Given the description of an element on the screen output the (x, y) to click on. 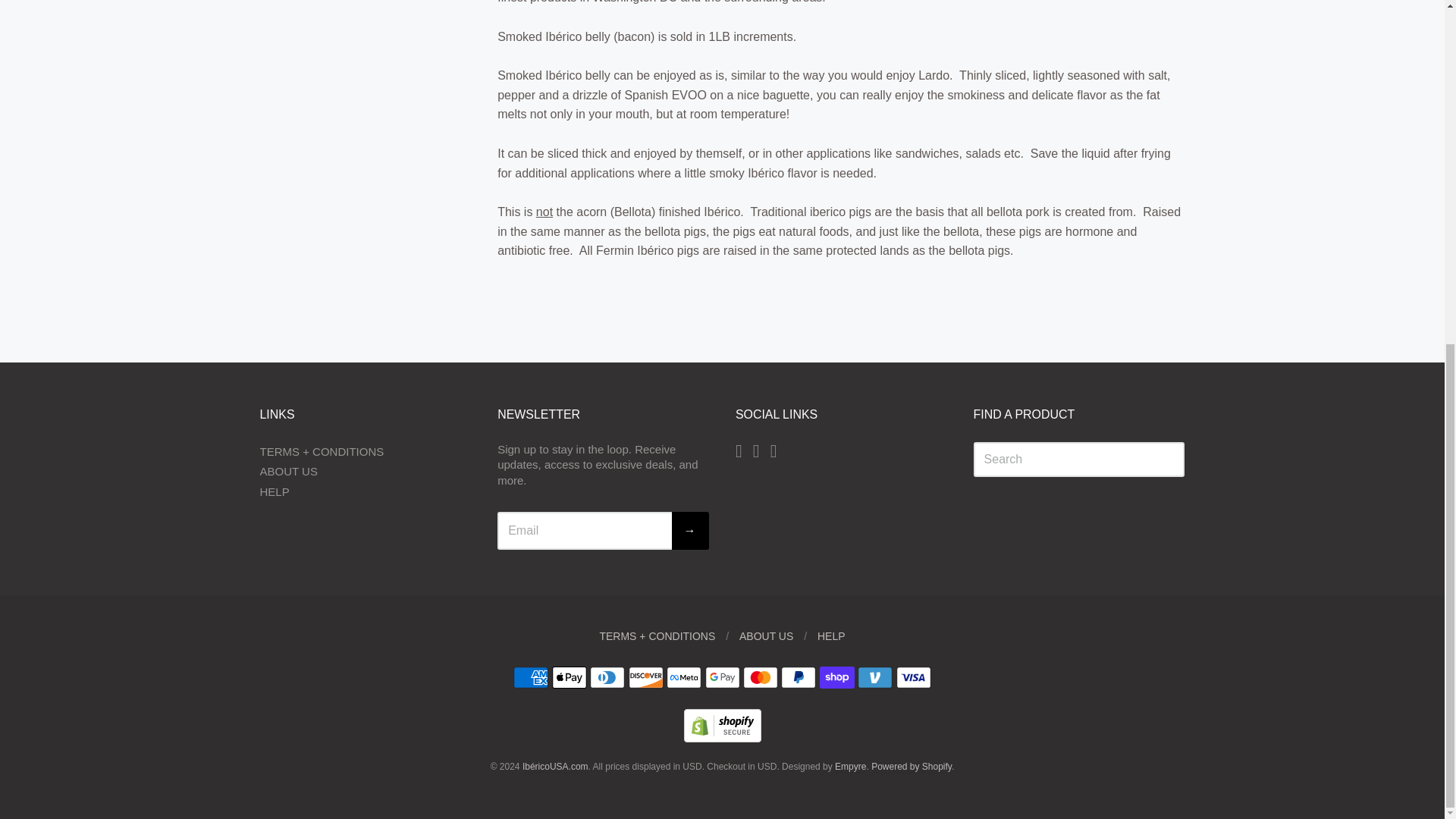
Google Pay (721, 677)
This online store is secured by Shopify (722, 738)
Visa (913, 677)
Mastercard (759, 677)
ABOUT US (766, 635)
Empyre (850, 767)
Apple Pay (568, 677)
Diners Club (606, 677)
HELP (364, 492)
HELP (830, 635)
